Given the description of an element on the screen output the (x, y) to click on. 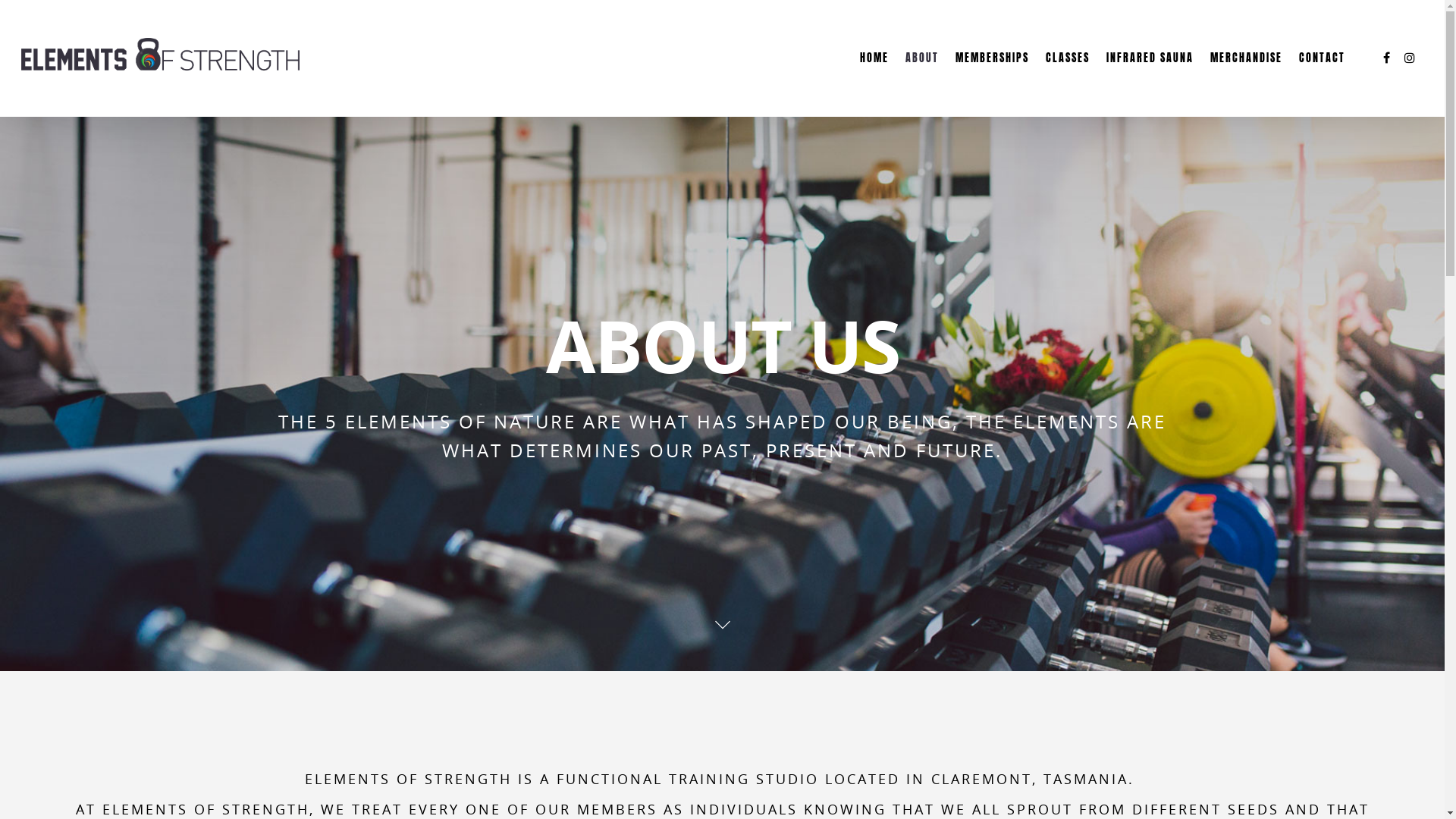
30 Day Trial Element type: text (894, 553)
Classes Element type: text (691, 577)
Open Gym Element type: text (691, 602)
Terms and Conditions Element type: text (691, 674)
MEMBERSHIPS Element type: text (991, 76)
Facebook Group Element type: text (894, 529)
ABOUT Element type: text (921, 76)
Contact Element type: text (691, 650)
MERCHANDISE Element type: text (1245, 76)
SIGN UP Element type: text (1097, 712)
About Element type: text (691, 529)
CLASSES Element type: text (1067, 76)
INFRARED SAUNA Element type: text (1149, 76)
Memberships Element type: text (691, 553)
CONTACT Element type: text (1321, 76)
Private Training Element type: text (691, 626)
HOME Element type: text (874, 76)
BROKENIMAGE Creative Element type: text (420, 794)
